Given the description of an element on the screen output the (x, y) to click on. 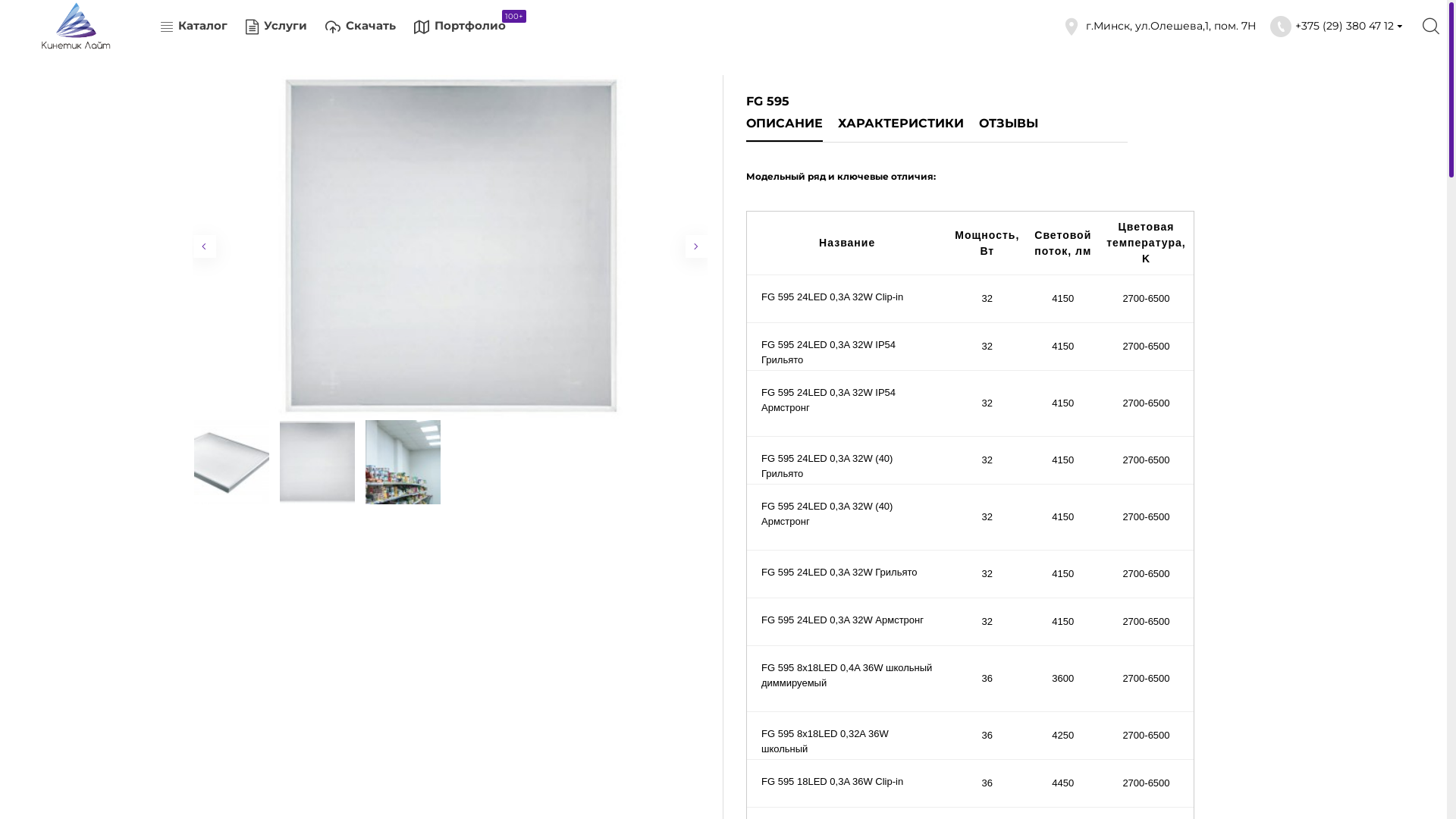
+375 (29) 380 47 12 Element type: text (1337, 26)
FG 595 Element type: hover (231, 462)
FG 595 18LED 0,3A 36W Clip-in Element type: text (848, 783)
FG 595 Element type: hover (317, 462)
FG 595 Element type: hover (449, 246)
FG 595 24LED 0,3A 32W Clip-in Element type: text (848, 298)
FG 595 Element type: hover (403, 462)
